Given the description of an element on the screen output the (x, y) to click on. 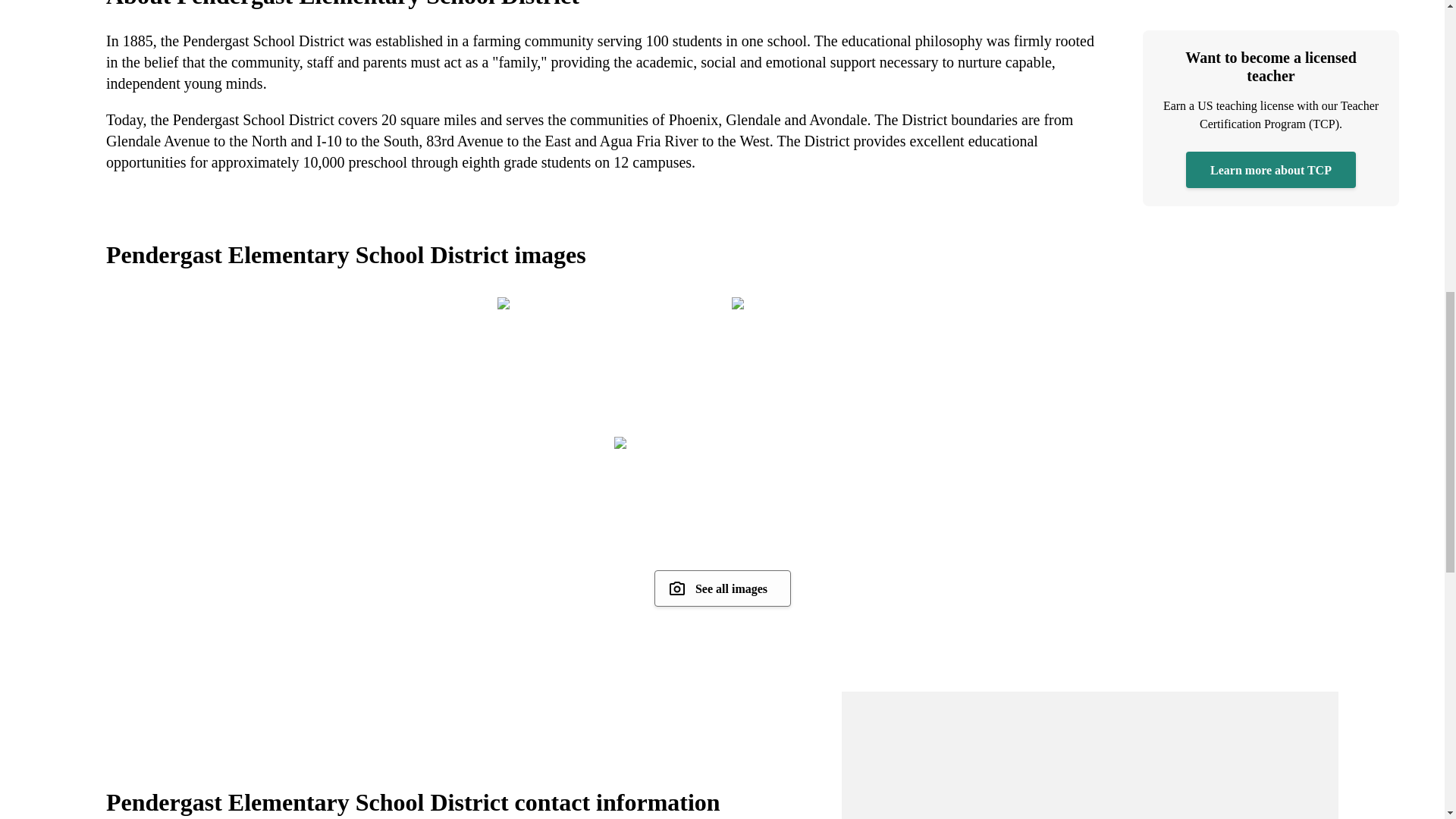
School map (1089, 755)
